Given the description of an element on the screen output the (x, y) to click on. 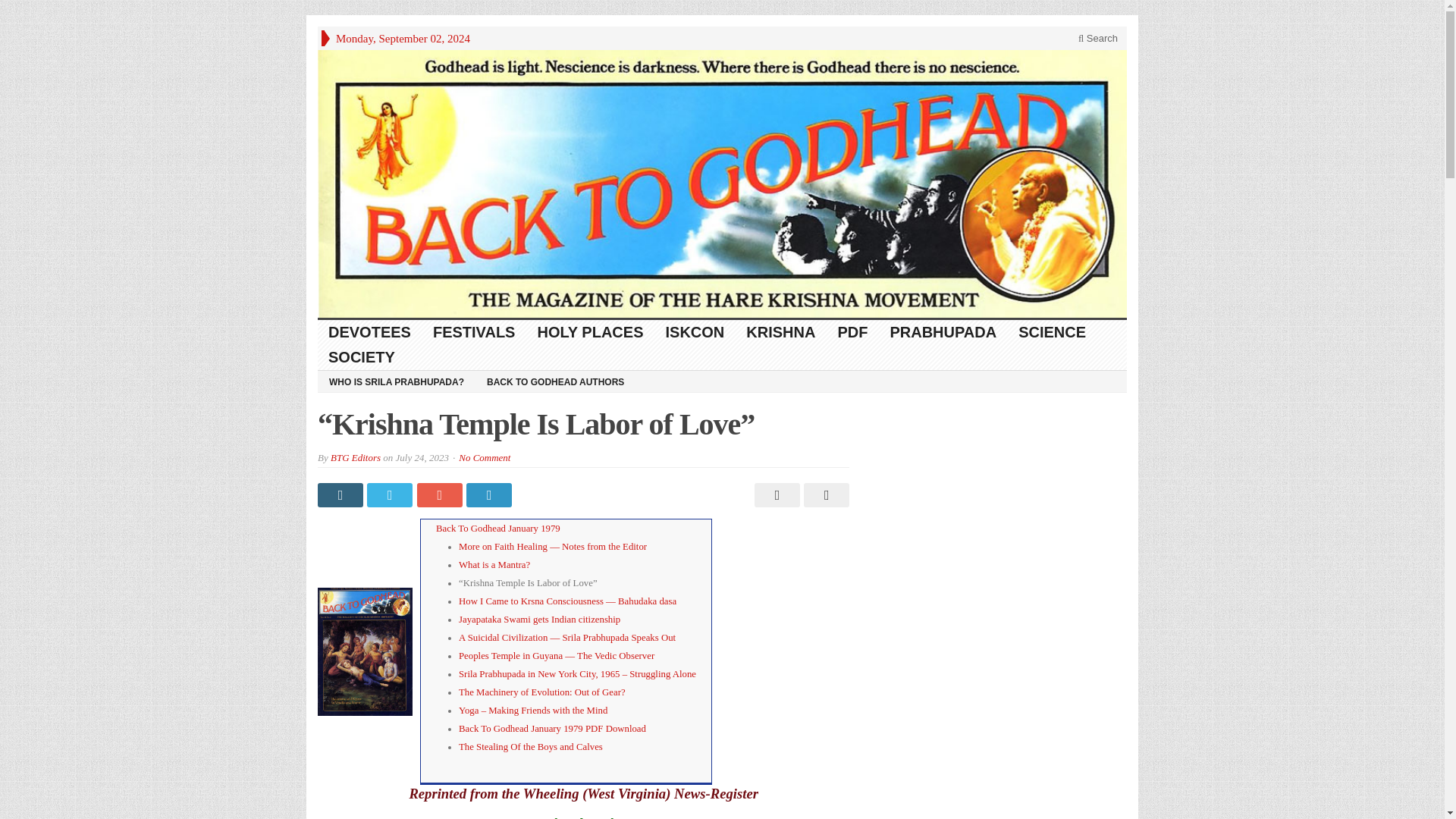
HOLY PLACES (589, 332)
ISKCON (695, 332)
KRISHNA (781, 332)
What is a Mantra? (493, 564)
FESTIVALS (474, 332)
DEVOTEES (369, 332)
Back To Godhead January 1979 (497, 528)
Jayapataka Swami gets Indian citizenship (539, 619)
Search (1097, 37)
